Given the description of an element on the screen output the (x, y) to click on. 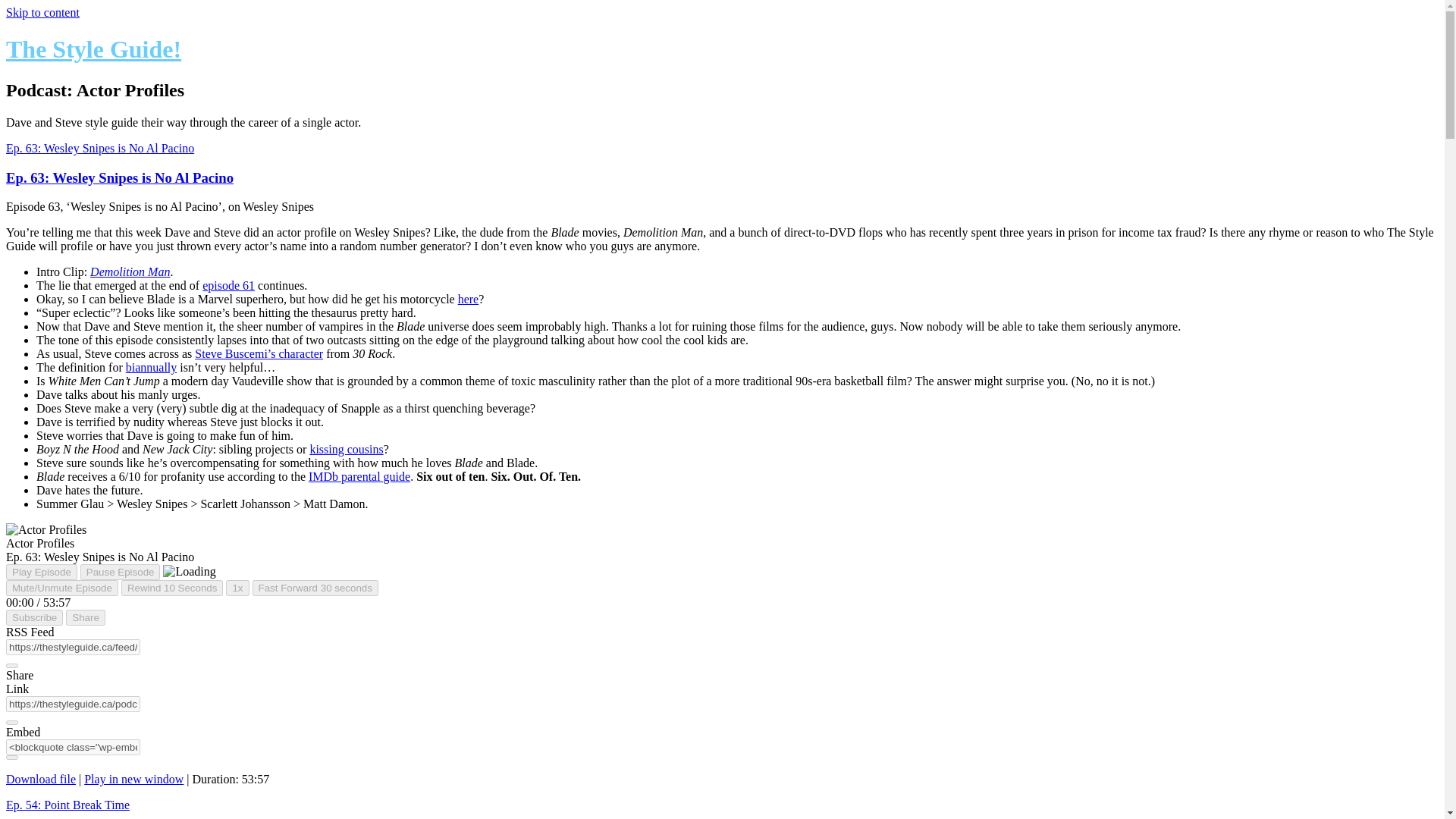
"How do you do fellow kids?" - 30 Rock (259, 353)
here (468, 298)
The Style Guide! (92, 49)
kissing cousins (345, 449)
kissing cousin - Urban Dictionary (345, 449)
Treat You Like Pixar - The Style Guide (228, 285)
Demolition Man (130, 271)
Demolition Man - iTunes Store (130, 271)
Fast Forward 30 seconds (314, 587)
Ep. 63: Wesley Snipes is No Al Pacino (99, 147)
